Given the description of an element on the screen output the (x, y) to click on. 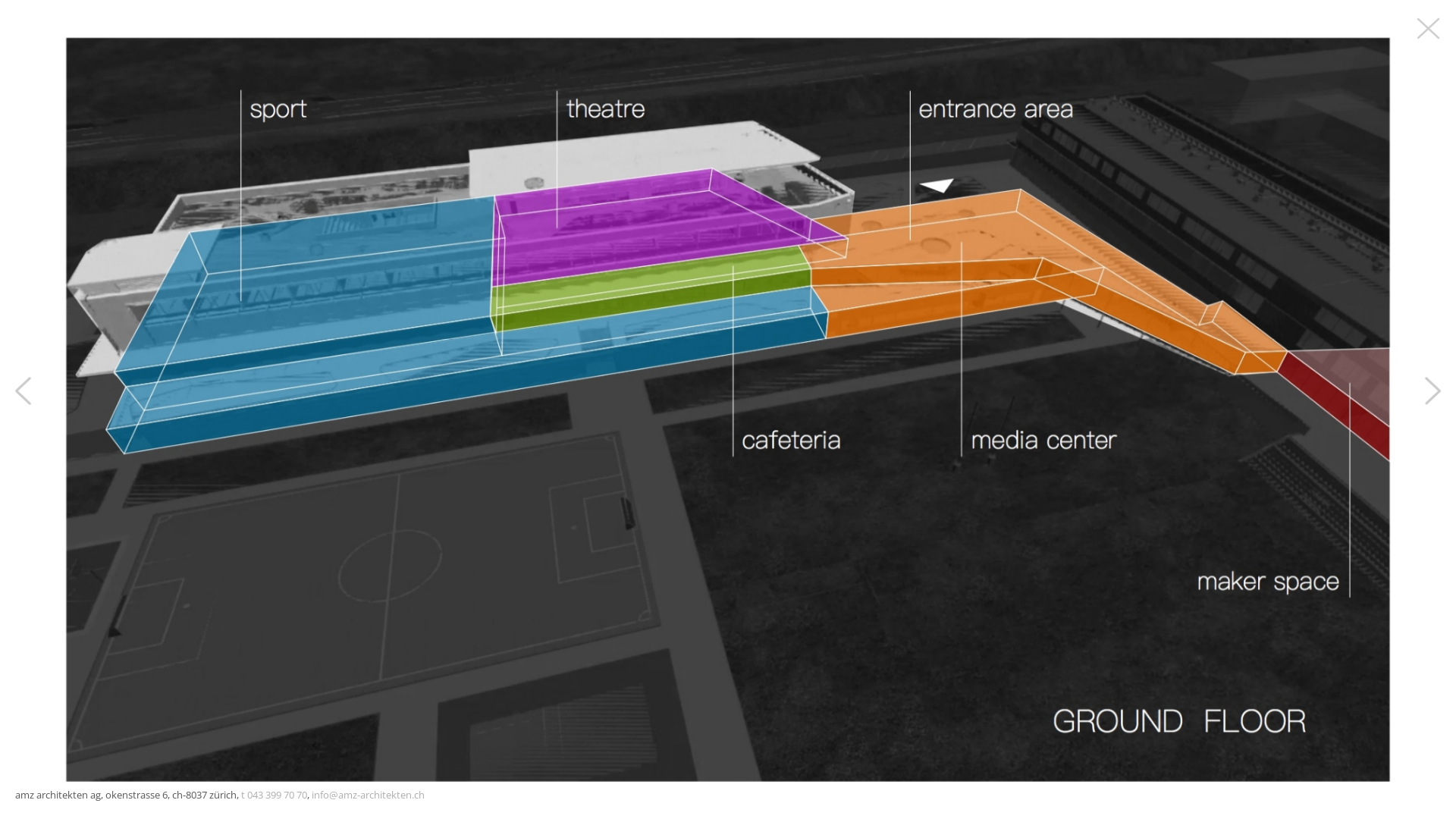
t 043 399 70 70 Element type: text (274, 794)
info@amz-architekten.ch Element type: text (367, 794)
